Given the description of an element on the screen output the (x, y) to click on. 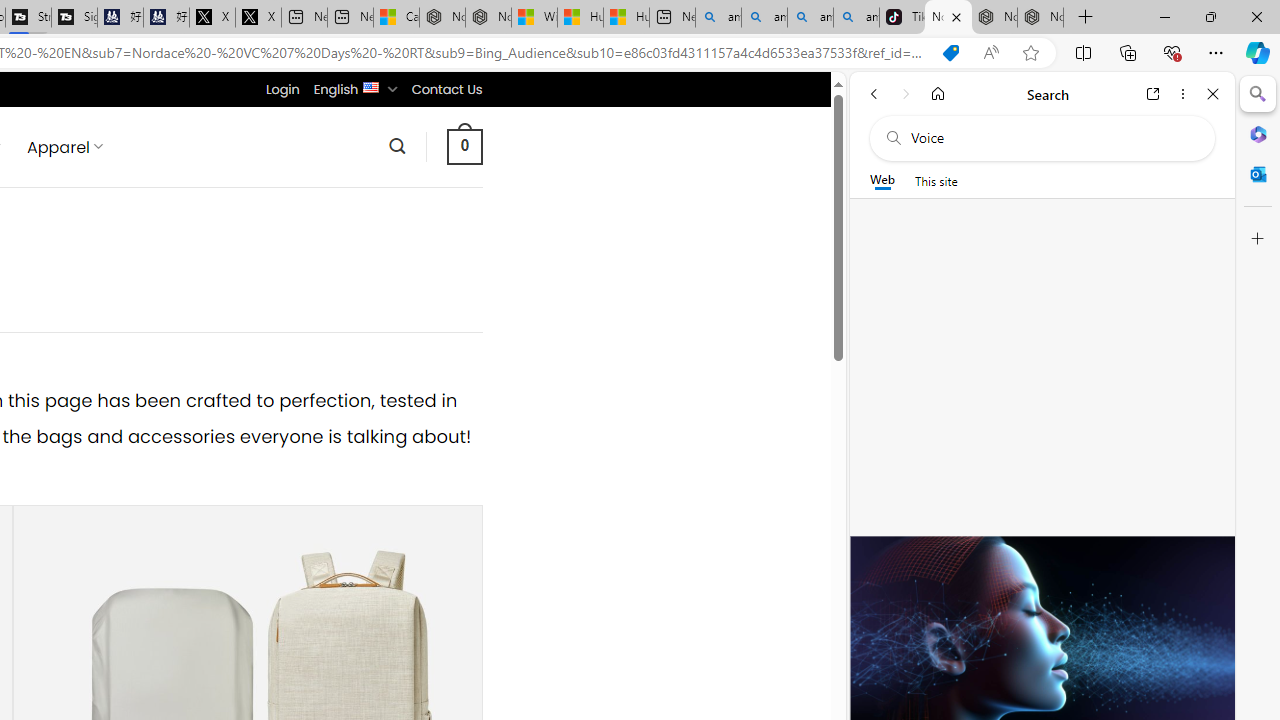
Open link in new tab (1153, 93)
amazon - Search Images (856, 17)
Forward (906, 93)
Customize (1258, 239)
